Given the description of an element on the screen output the (x, y) to click on. 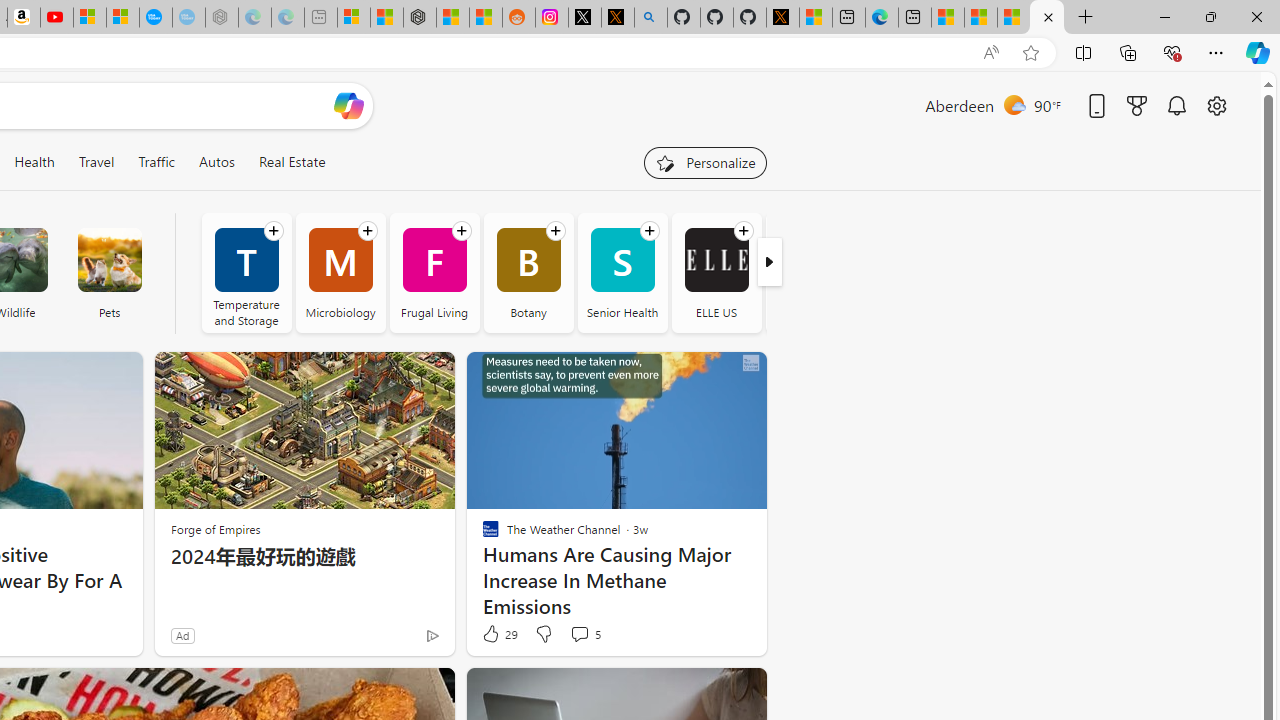
Nordace - Duffels (420, 17)
View comments 5 Comment (584, 633)
help.x.com | 524: A timeout occurred (617, 17)
